Given the description of an element on the screen output the (x, y) to click on. 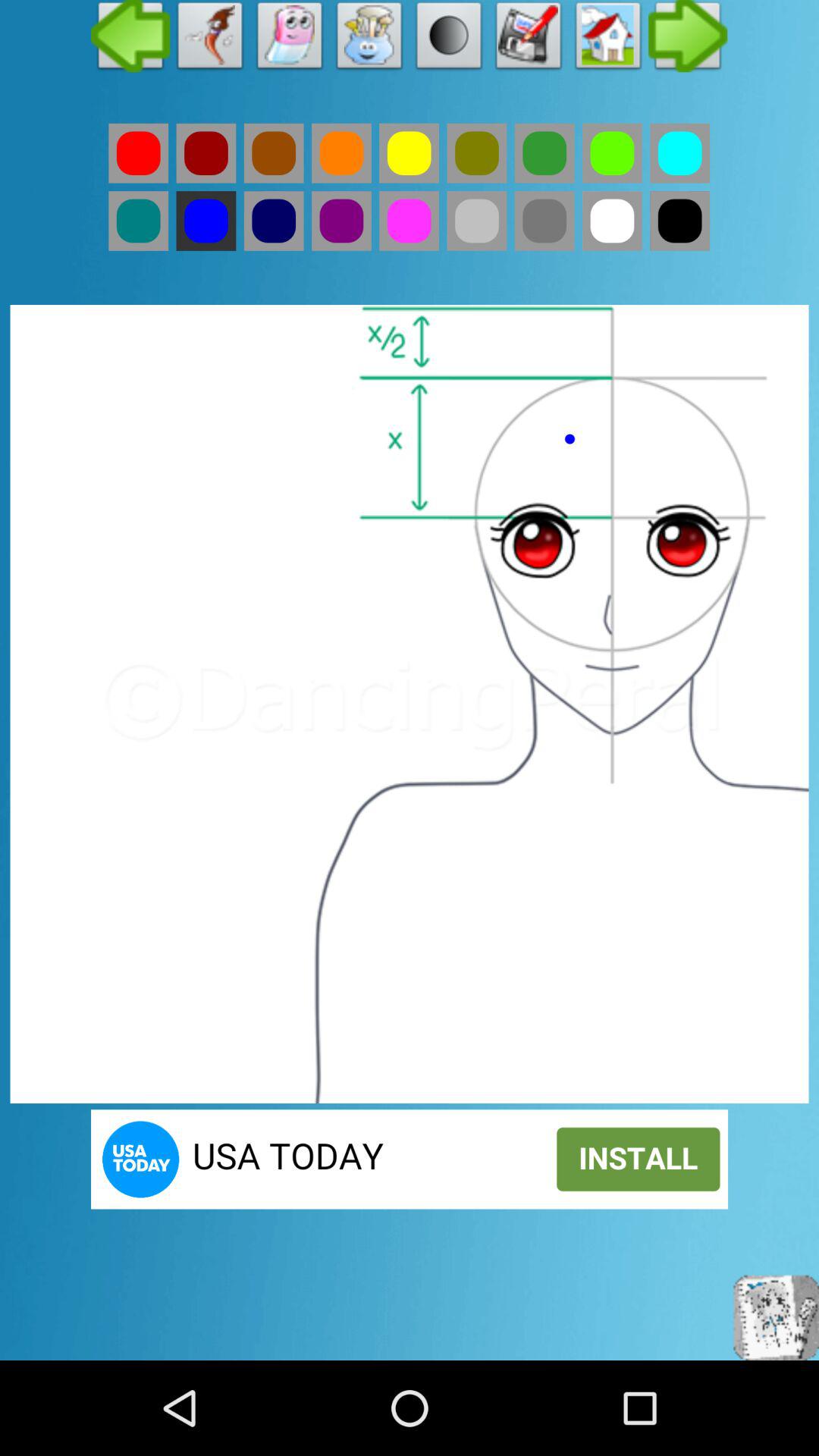
add element (608, 39)
